Given the description of an element on the screen output the (x, y) to click on. 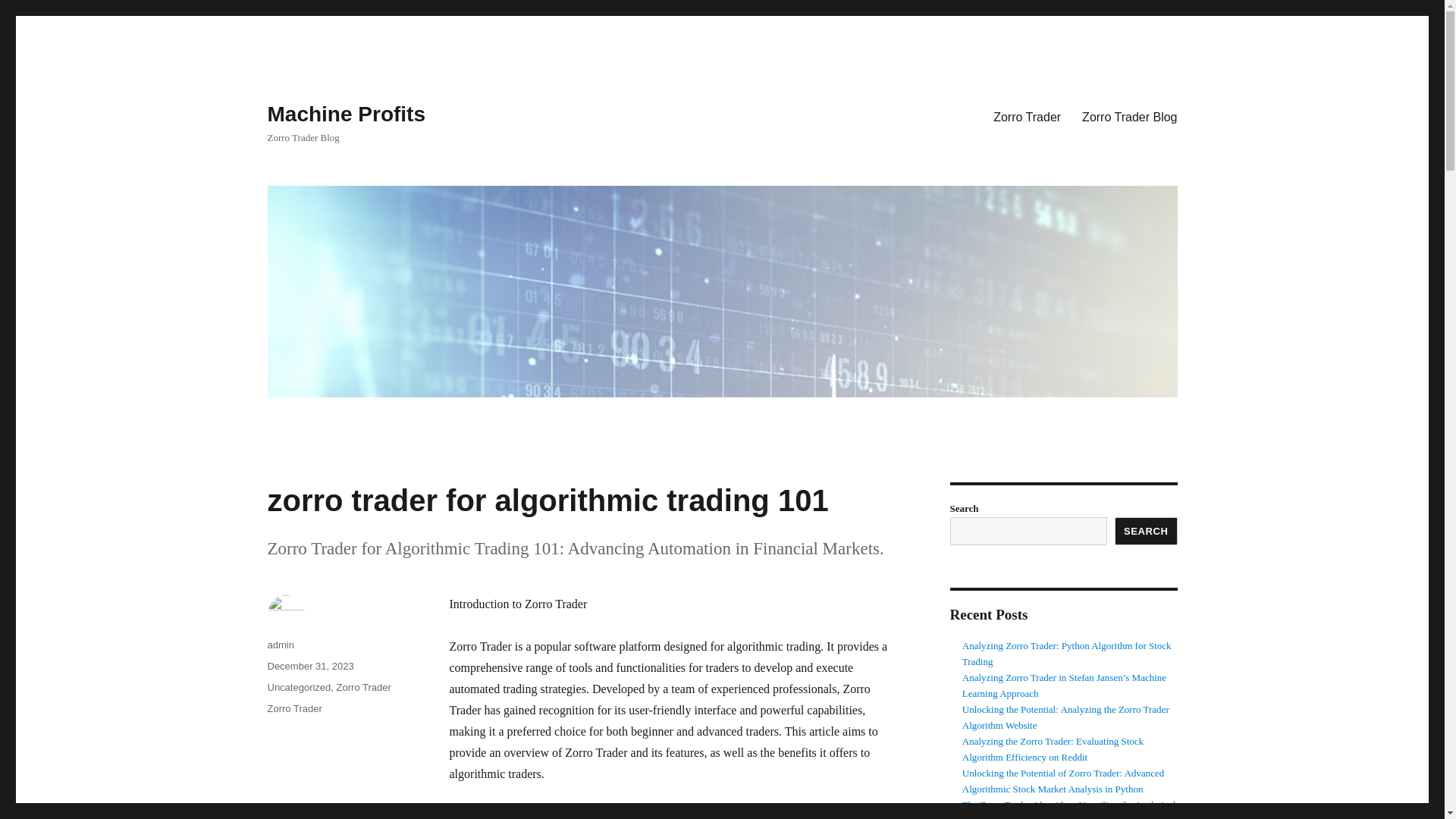
SEARCH (1146, 530)
Zorro Trader Blog (1129, 116)
Zorro Trader (1026, 116)
Machine Profits (345, 114)
Zorro Trader (293, 708)
admin (280, 644)
Zorro Trader (363, 686)
December 31, 2023 (309, 665)
Uncategorized (298, 686)
Analyzing Zorro Trader: Python Algorithm for Stock Trading (1067, 653)
